Given the description of an element on the screen output the (x, y) to click on. 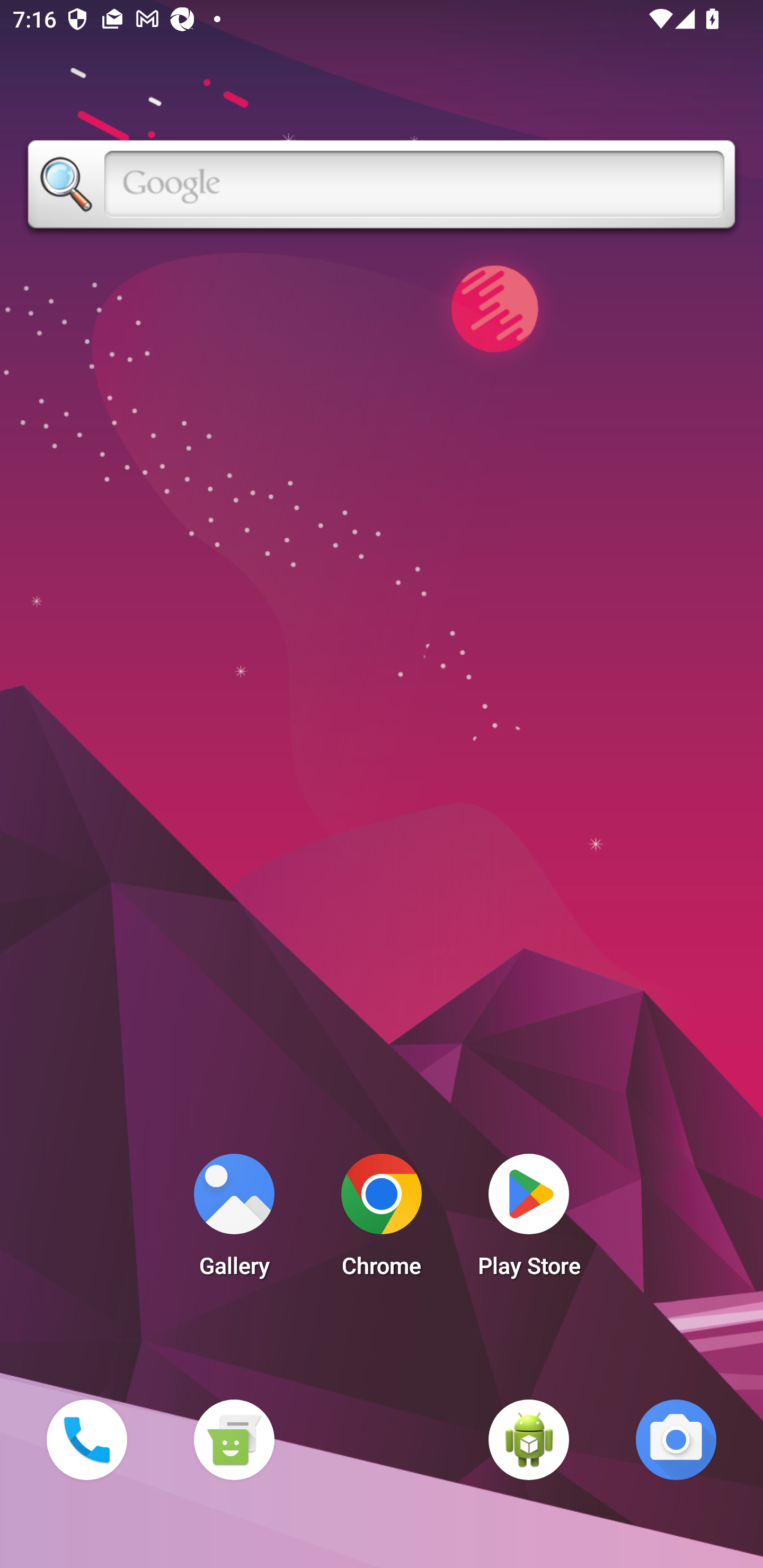
Gallery (233, 1220)
Chrome (381, 1220)
Play Store (528, 1220)
Phone (86, 1439)
Messaging (233, 1439)
WebView Browser Tester (528, 1439)
Camera (676, 1439)
